Given the description of an element on the screen output the (x, y) to click on. 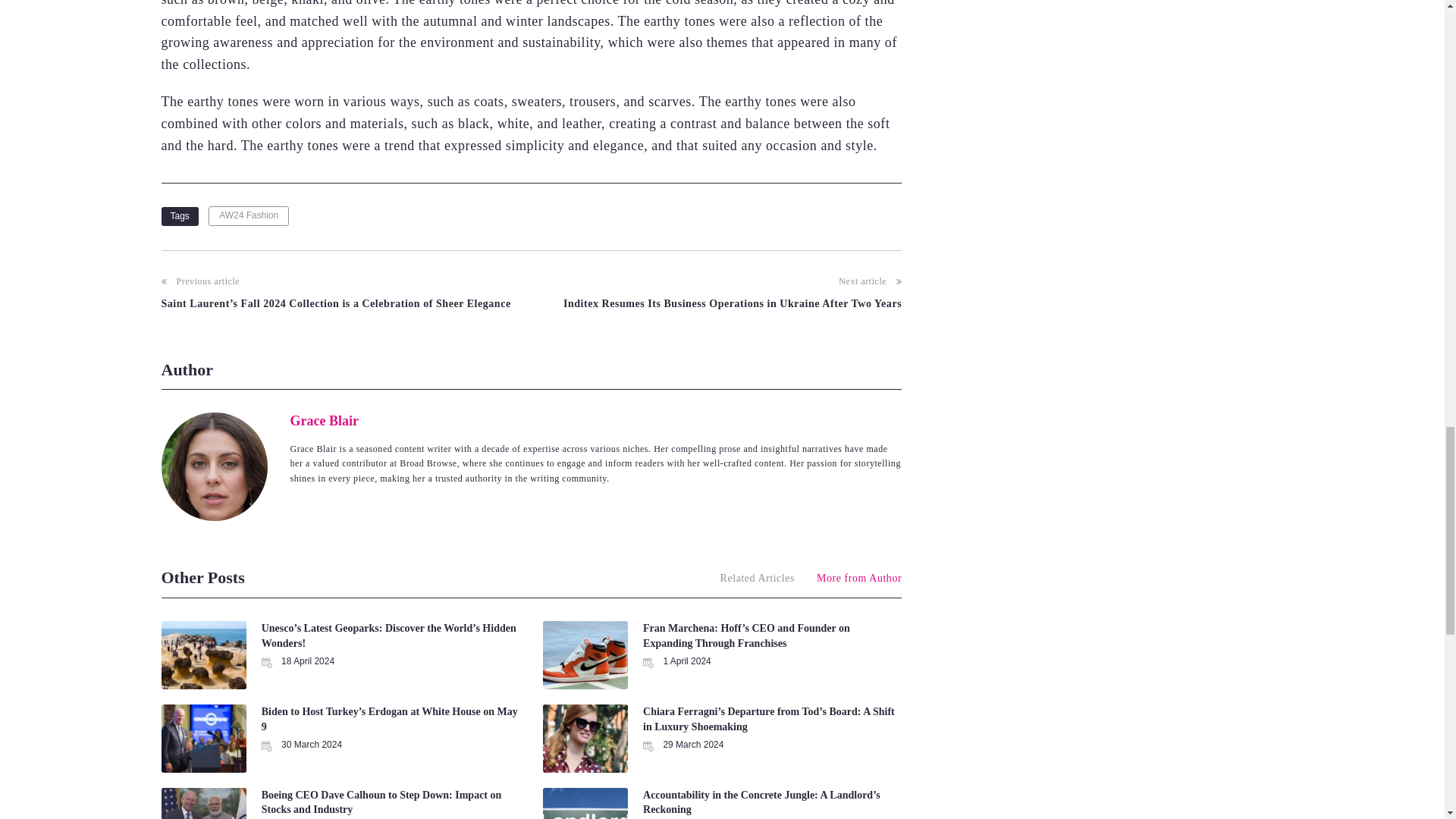
Posts by Grace Blair (323, 420)
Grace Blair (323, 420)
AW24 Fashion (248, 215)
